Given the description of an element on the screen output the (x, y) to click on. 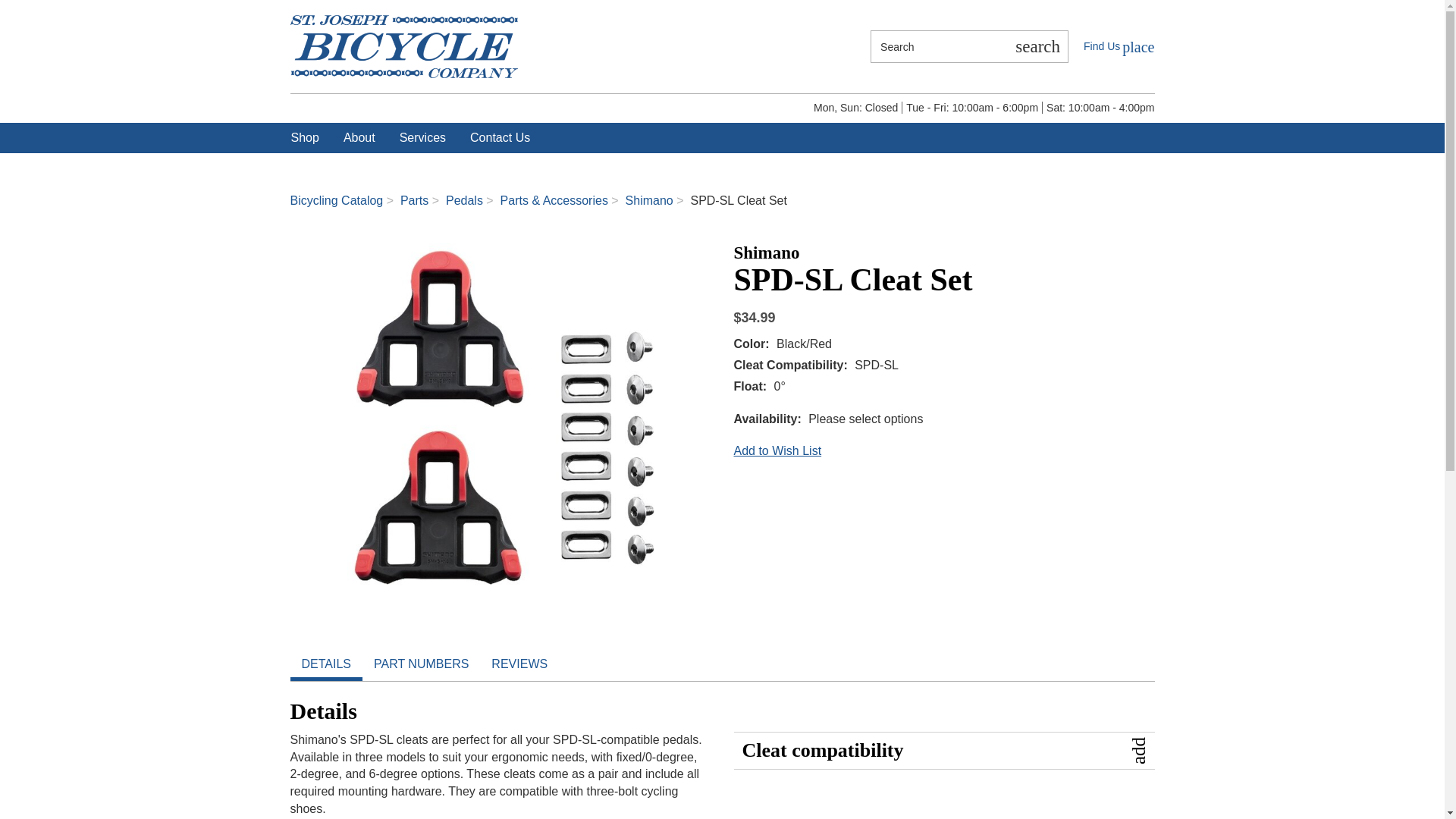
Store (1118, 46)
Search (938, 46)
Shimano SPD-SL Cleat Set (500, 413)
Search (1037, 46)
St. Joseph Bicycle Co Home Page (402, 45)
Shop (304, 137)
